Given the description of an element on the screen output the (x, y) to click on. 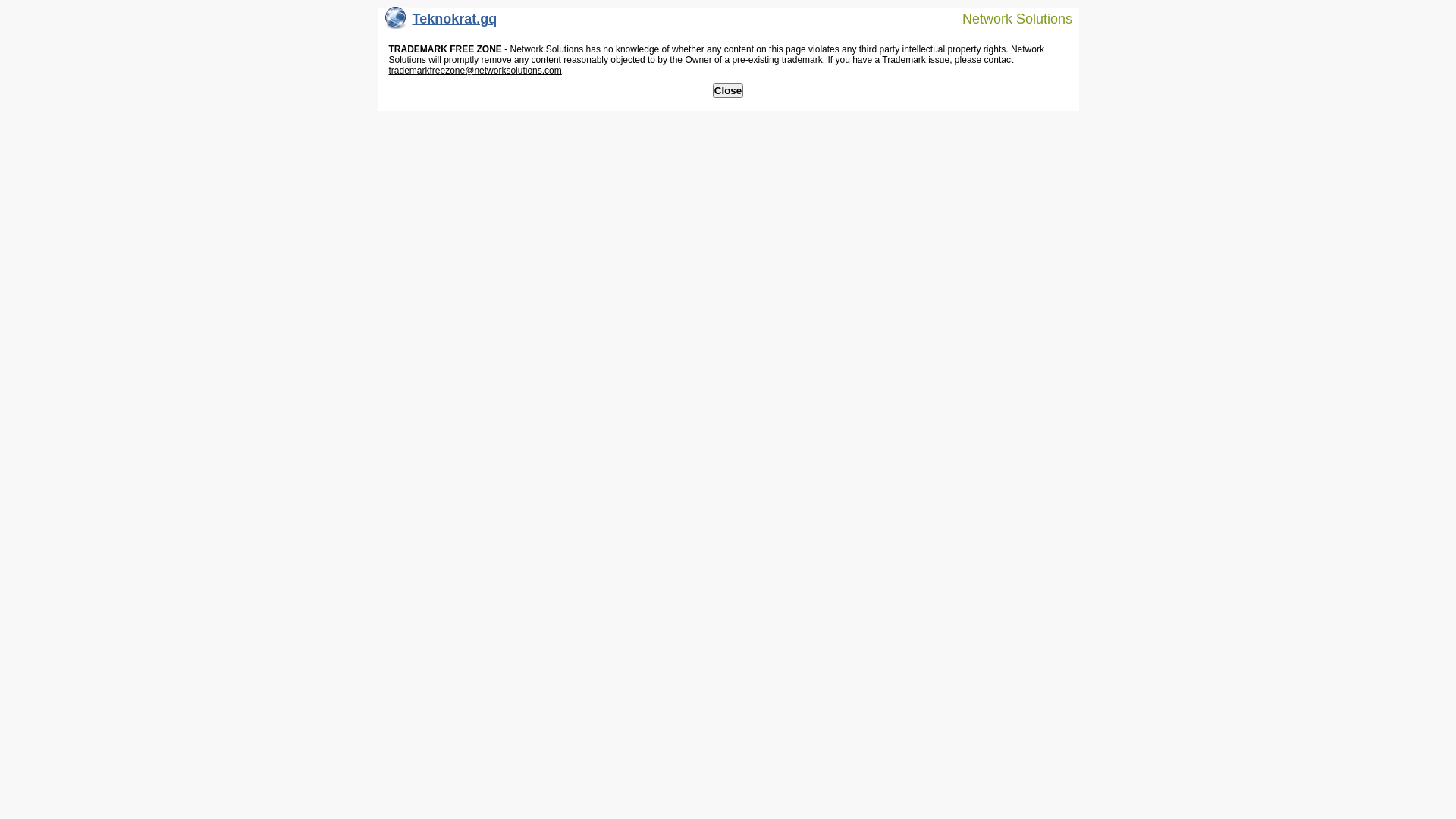
Teknokrat.gq Element type: text (441, 21)
Network Solutions Element type: text (1007, 17)
Close Element type: text (727, 90)
trademarkfreezone@networksolutions.com Element type: text (474, 70)
